Given the description of an element on the screen output the (x, y) to click on. 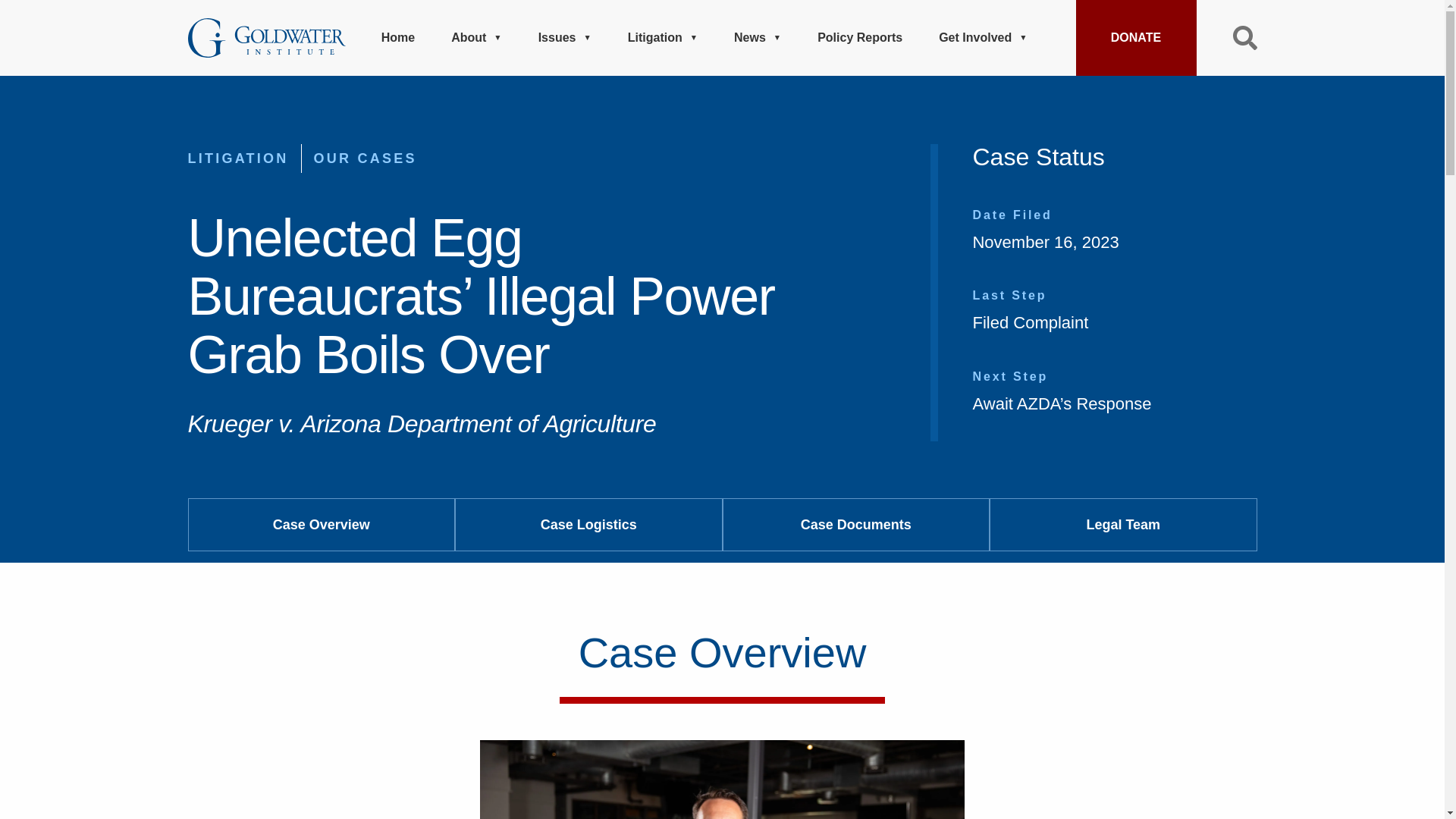
Litigation (662, 37)
DONATE (1135, 38)
Policy Reports (859, 37)
Get Involved (982, 37)
